Given the description of an element on the screen output the (x, y) to click on. 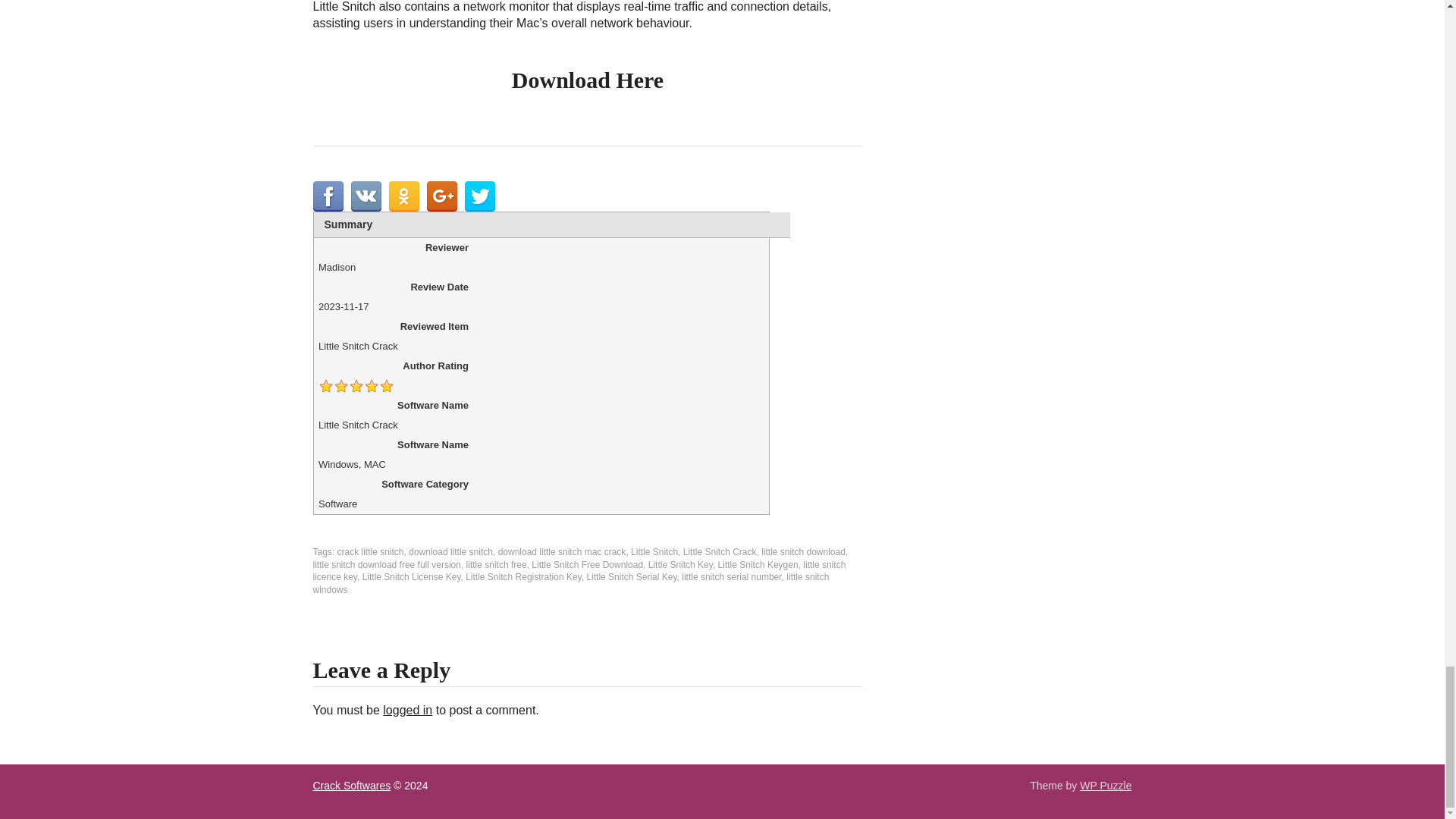
Share in Facebook (327, 195)
Little Snitch Crack (719, 552)
Little Snitch (654, 552)
Download Here (587, 79)
Share in VK (365, 195)
Share in OK (403, 195)
Share in Twitter (479, 195)
download little snitch mac crack (561, 552)
crack little snitch (370, 552)
download little snitch (451, 552)
